Given the description of an element on the screen output the (x, y) to click on. 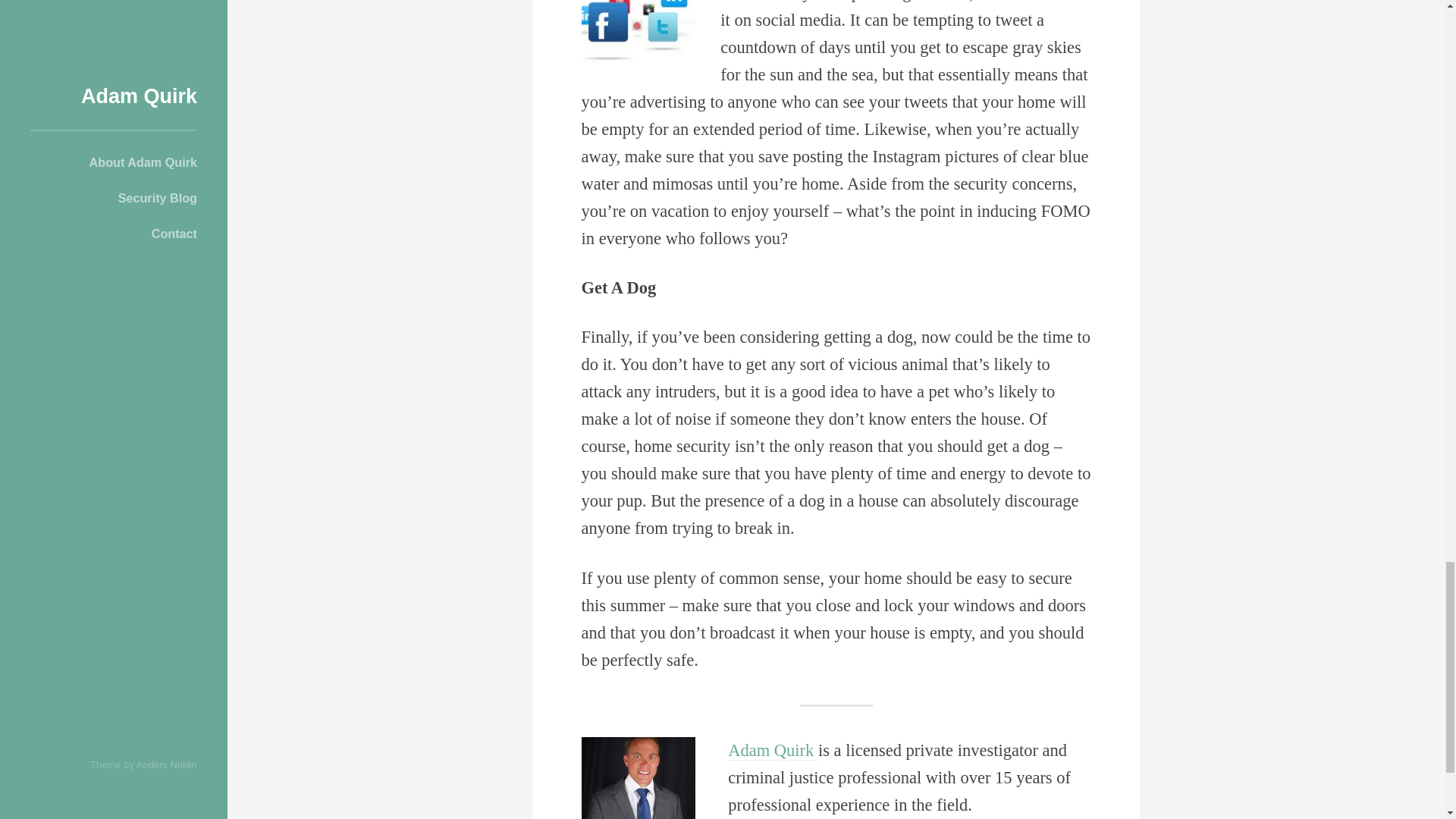
Adam Quirk (773, 750)
